Given the description of an element on the screen output the (x, y) to click on. 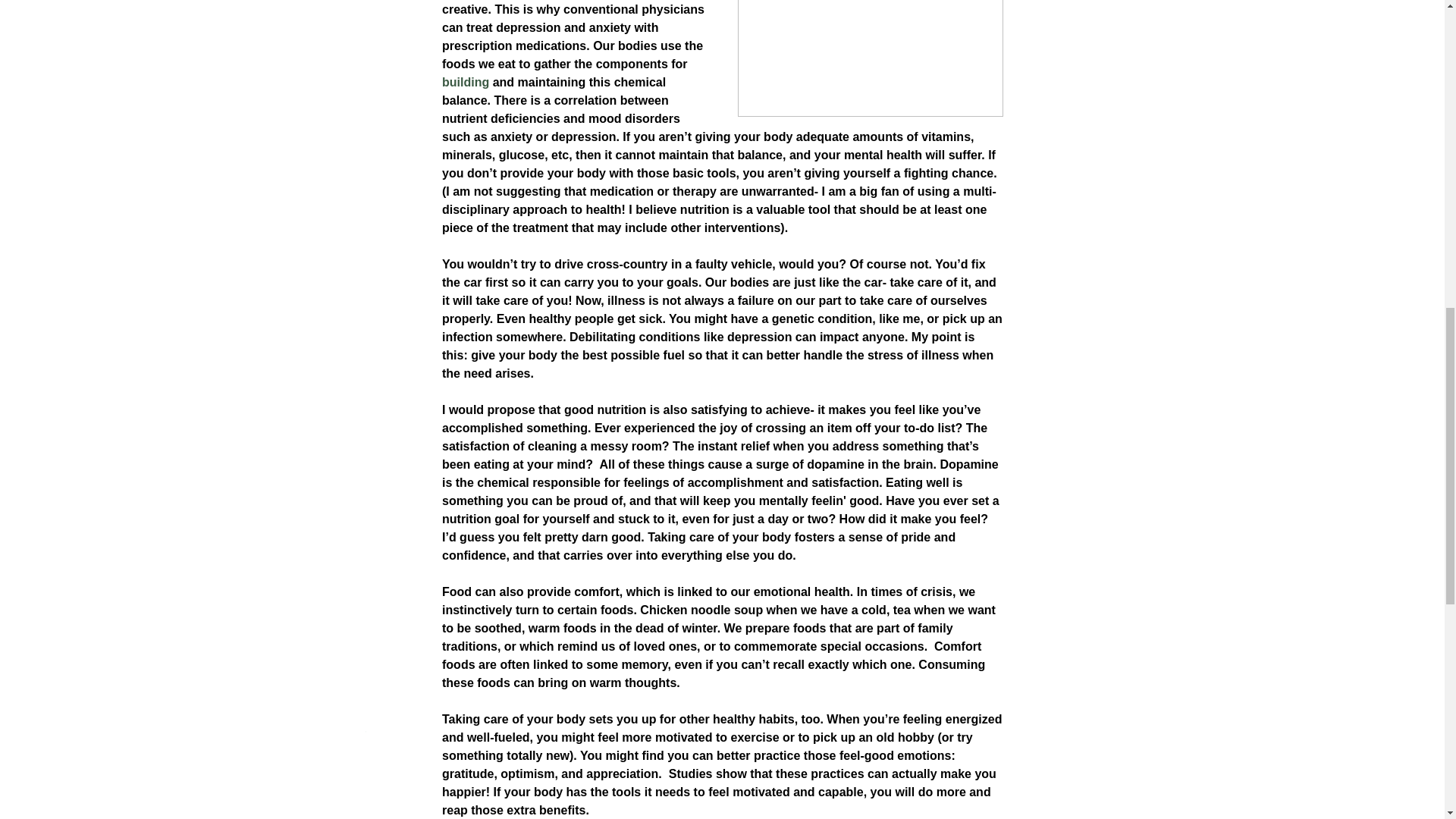
body (376, 793)
nourish (446, 793)
Add Some Chickpeas to Your Day! (964, 606)
nutrition (493, 793)
mind (408, 793)
spirit (532, 793)
Why I Keep Frozen Berries On Hand (479, 663)
